Given the description of an element on the screen output the (x, y) to click on. 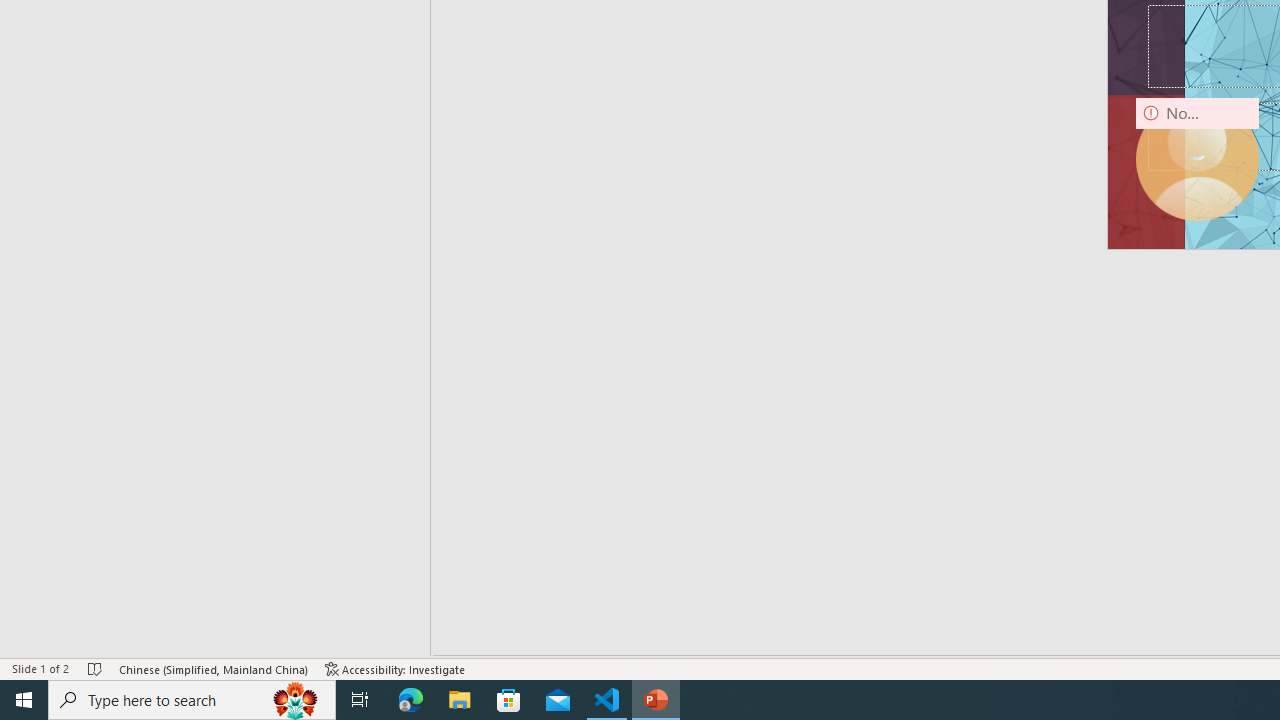
Camera 9, No camera detected. (1197, 159)
